Given the description of an element on the screen output the (x, y) to click on. 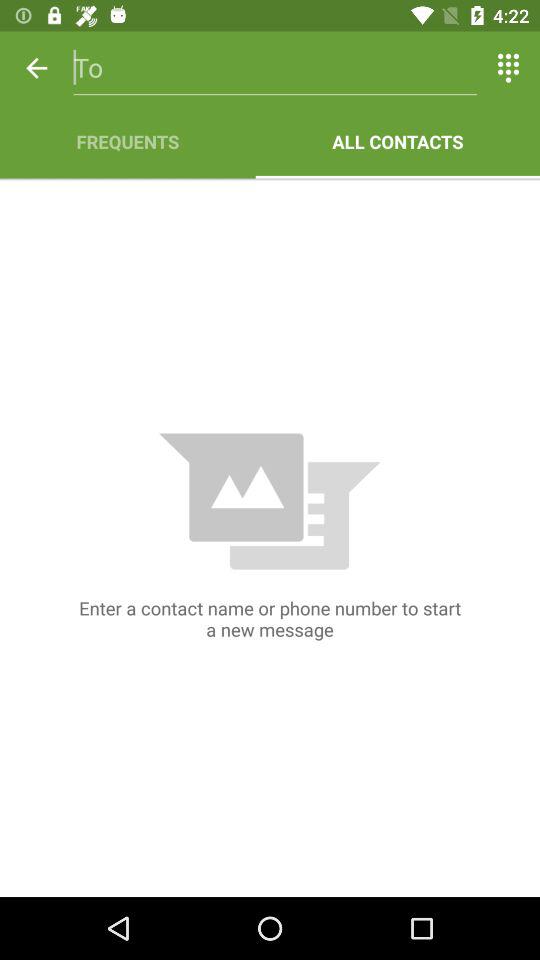
choose icon to the right of frequents item (397, 141)
